Given the description of an element on the screen output the (x, y) to click on. 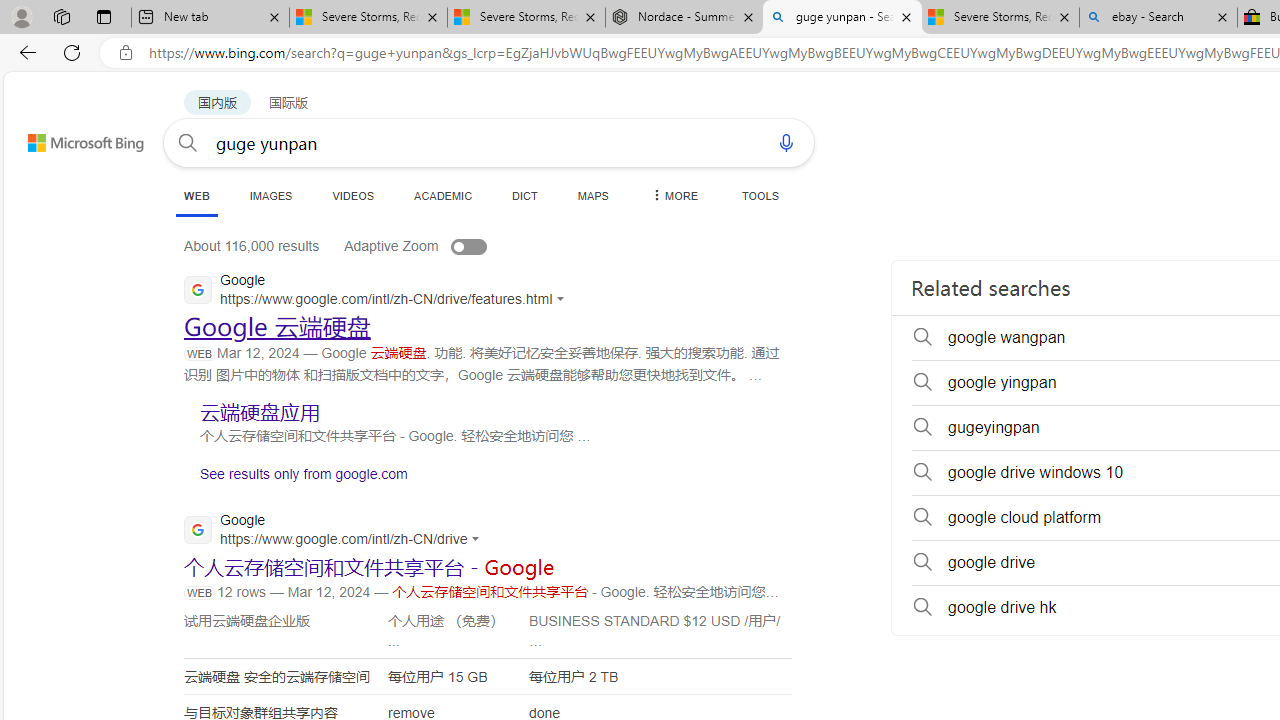
IMAGES (270, 195)
Search (187, 142)
guge yunpan - Search (842, 17)
WEB (196, 196)
ebay - Search (1158, 17)
Dropdown Menu (673, 195)
View site information (125, 53)
Search button (187, 142)
MAPS (592, 195)
See results only from google.com (296, 478)
Back (24, 52)
Google (337, 530)
Workspaces (61, 16)
VIDEOS (352, 195)
